Given the description of an element on the screen output the (x, y) to click on. 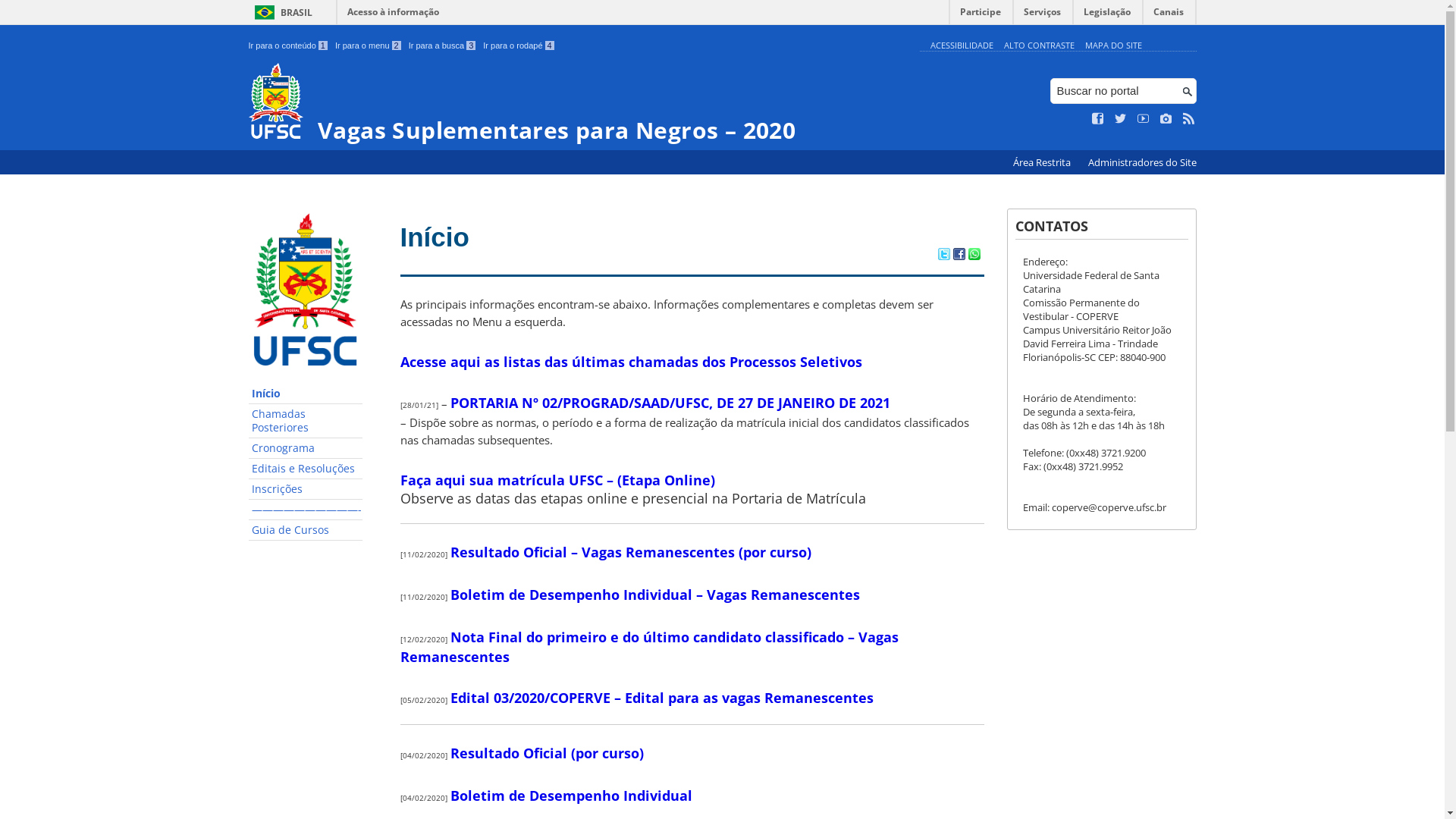
Curta no Facebook Element type: hover (1098, 118)
Compartilhar no WhatsApp Element type: hover (973, 255)
Canais Element type: text (1169, 15)
ALTO CONTRASTE Element type: text (1039, 44)
Boletim de Desempenho Individual Element type: text (571, 795)
BRASIL Element type: text (280, 12)
Siga no Twitter Element type: hover (1120, 118)
Chamadas Posteriores Element type: text (305, 421)
Compartilhar no Facebook Element type: hover (958, 255)
Cronograma Element type: text (305, 448)
ACESSIBILIDADE Element type: text (960, 44)
Compartilhar no Twitter Element type: hover (943, 255)
Guia de Cursos Element type: text (305, 530)
Ir para o menu 2 Element type: text (368, 45)
MAPA DO SITE Element type: text (1112, 44)
Administradores do Site Element type: text (1141, 162)
Participe Element type: text (980, 15)
Veja no Instagram Element type: hover (1166, 118)
Resultado Oficial (por curso) Element type: text (546, 752)
Ir para a busca 3 Element type: text (442, 45)
